Given the description of an element on the screen output the (x, y) to click on. 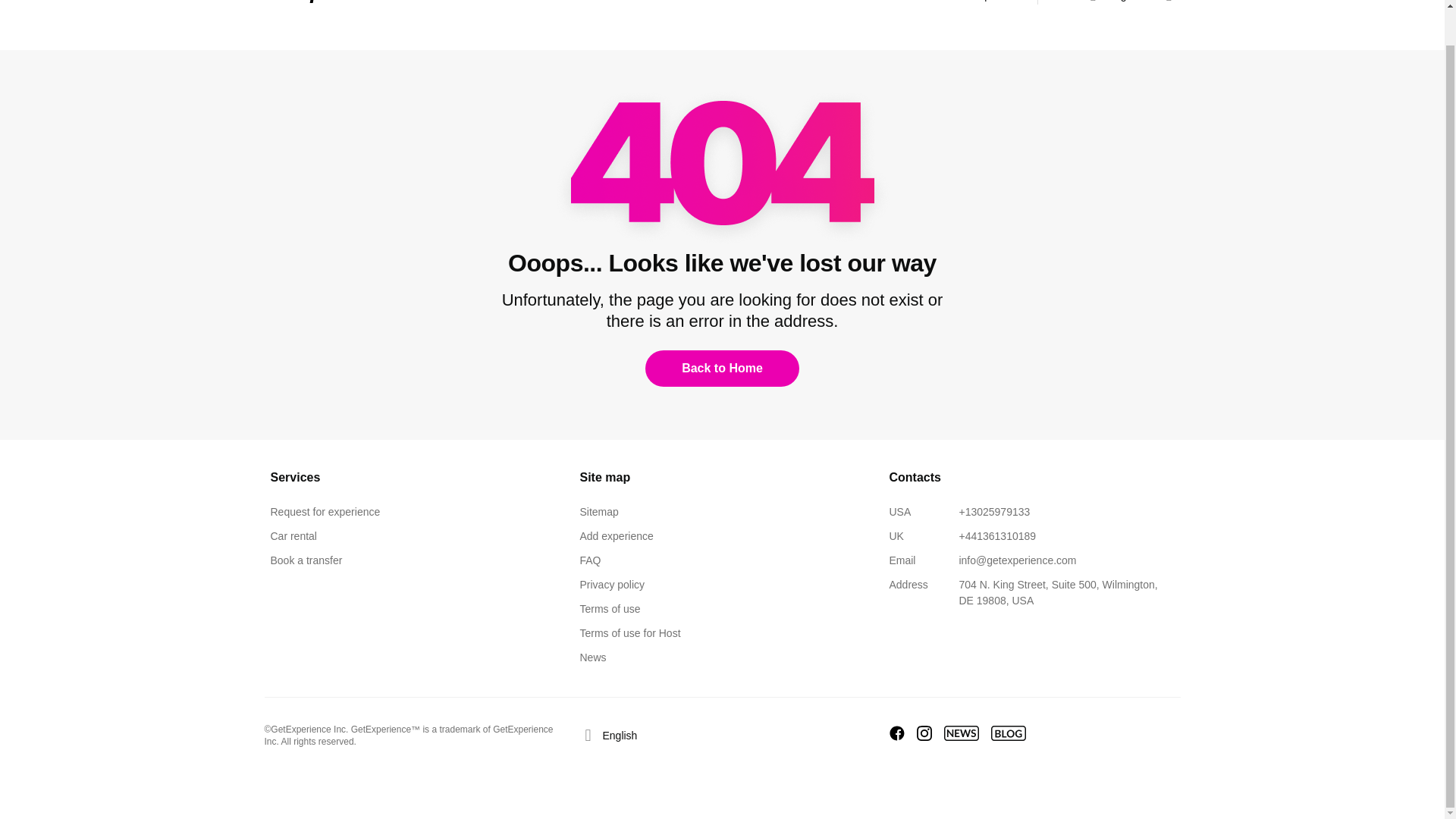
Add experience (615, 538)
CNY (1060, 5)
English (611, 735)
Back to Home (722, 368)
FAQ (589, 563)
News (592, 660)
English (1113, 5)
Car rental (292, 538)
Add experience (987, 5)
Sitemap (598, 514)
